Given the description of an element on the screen output the (x, y) to click on. 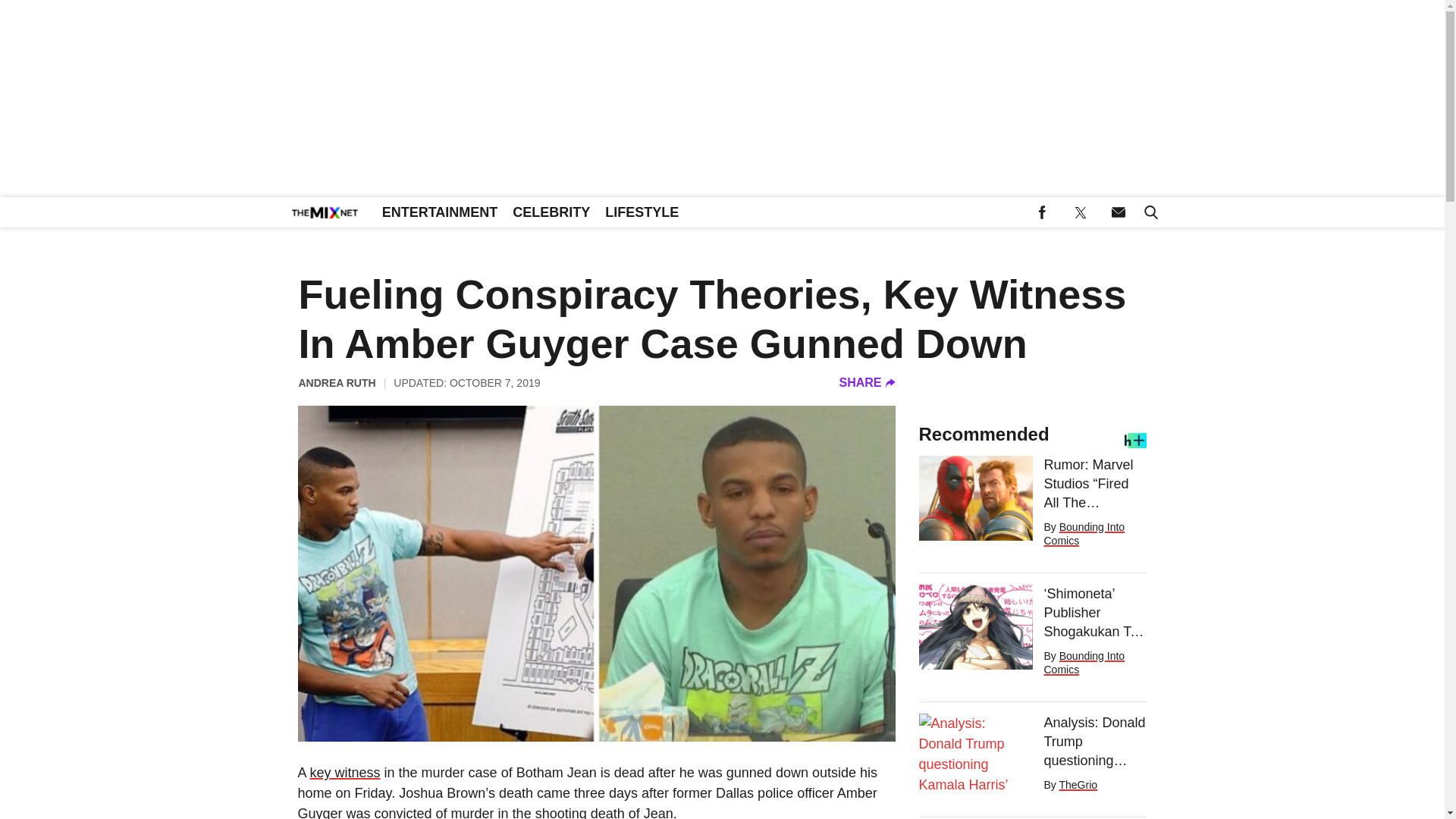
Send us an email (1118, 212)
ENTERTAINMENT (439, 212)
key witness (345, 772)
Follow us on Facebook (1042, 212)
Bounding Into Comics (1083, 662)
Bounding Into Comics (1083, 533)
CELEBRITY (550, 212)
Follow us on Twitter (1080, 212)
TheGrio (1077, 784)
ANDREA RUTH (336, 382)
Posts by Andrea Ruth (336, 382)
LIFESTYLE (640, 212)
